Given the description of an element on the screen output the (x, y) to click on. 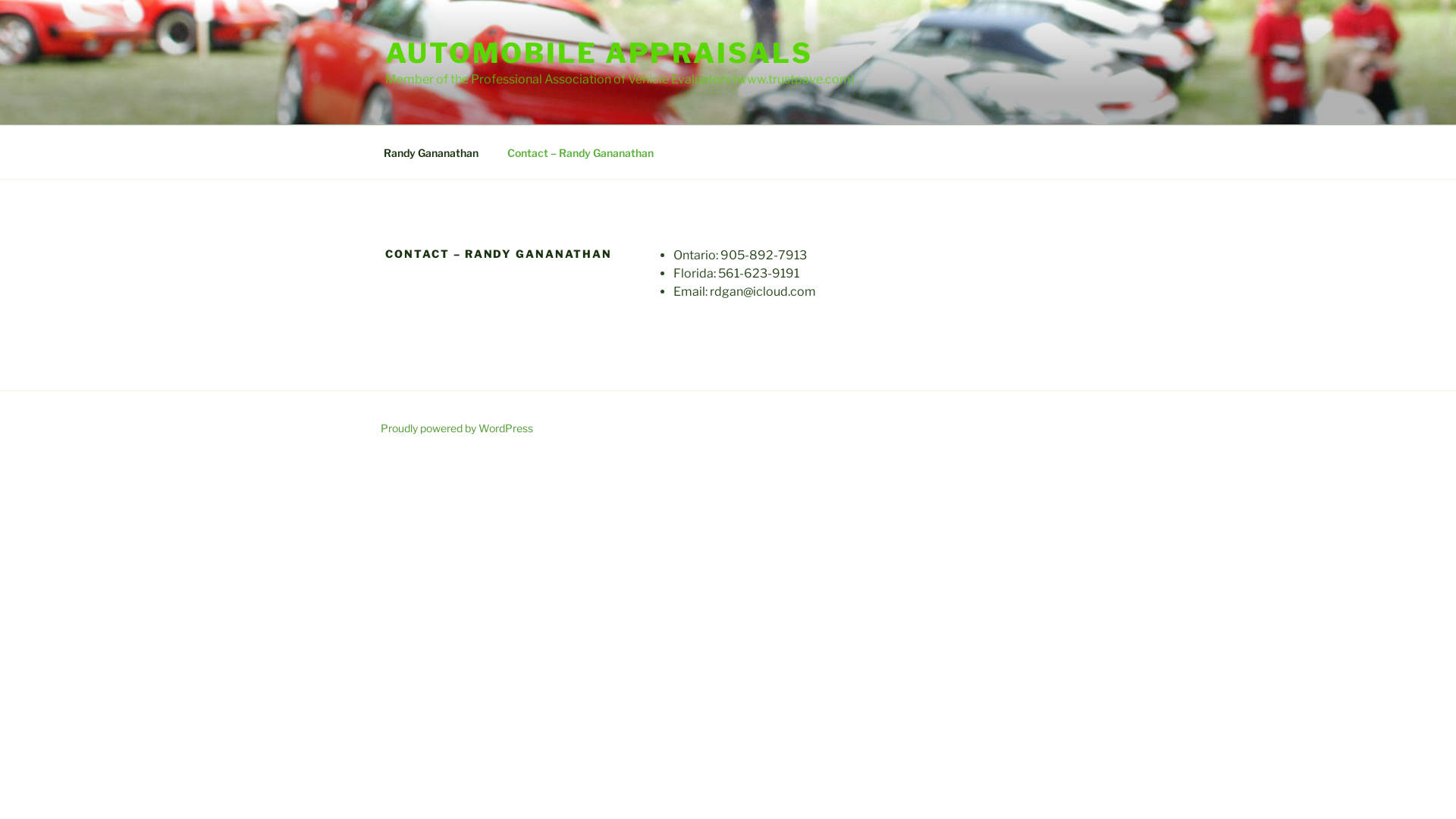
AUTOMOBILE APPRAISALS Element type: text (598, 52)
Proudly powered by WordPress Element type: text (456, 427)
Randy Gananathan Element type: text (430, 151)
